Given the description of an element on the screen output the (x, y) to click on. 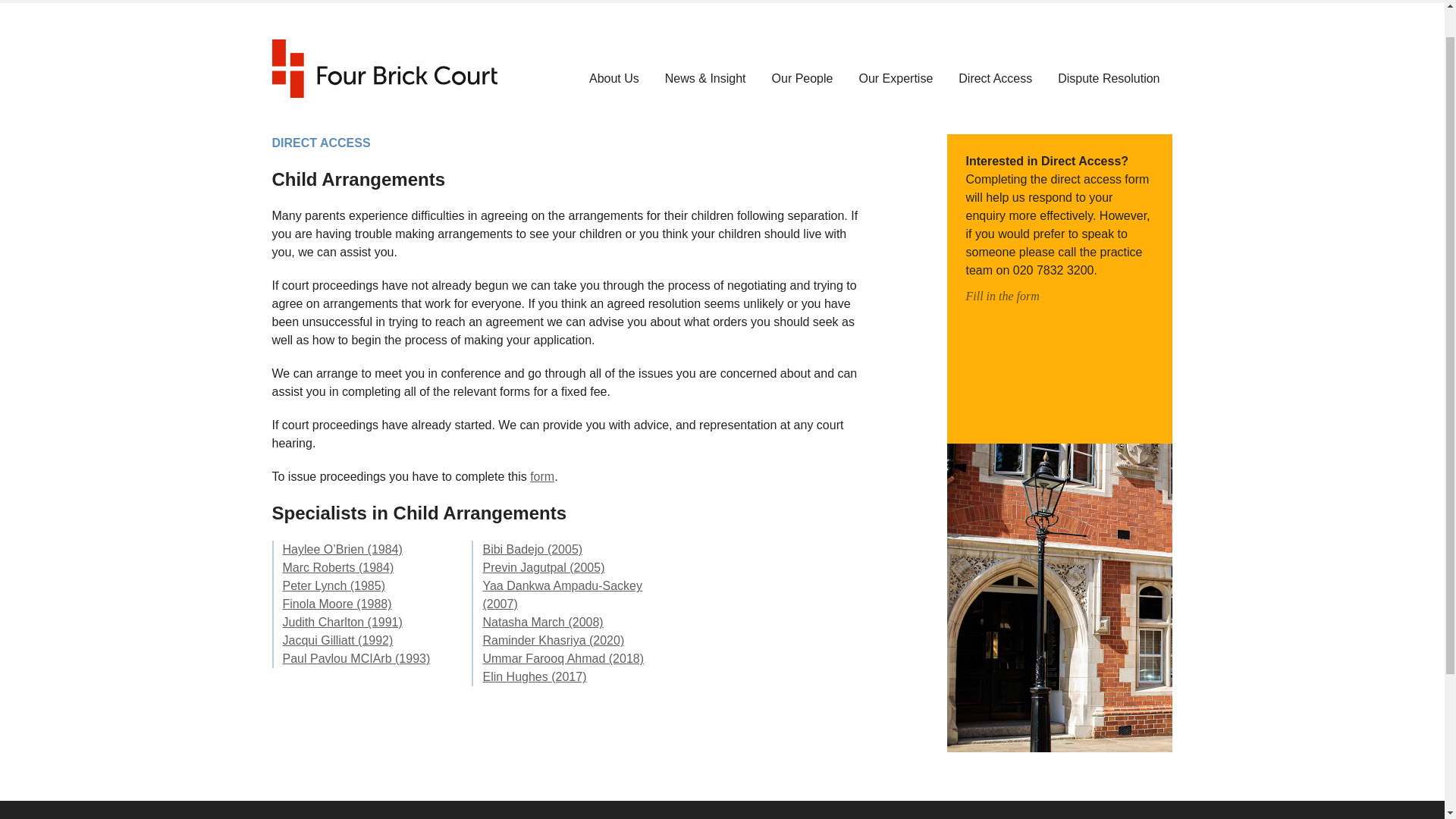
Dispute Resolution (1108, 78)
Direct Access (995, 78)
Four Brick Court (383, 68)
Our Expertise (896, 78)
Our People (801, 78)
About Us (614, 78)
